Given the description of an element on the screen output the (x, y) to click on. 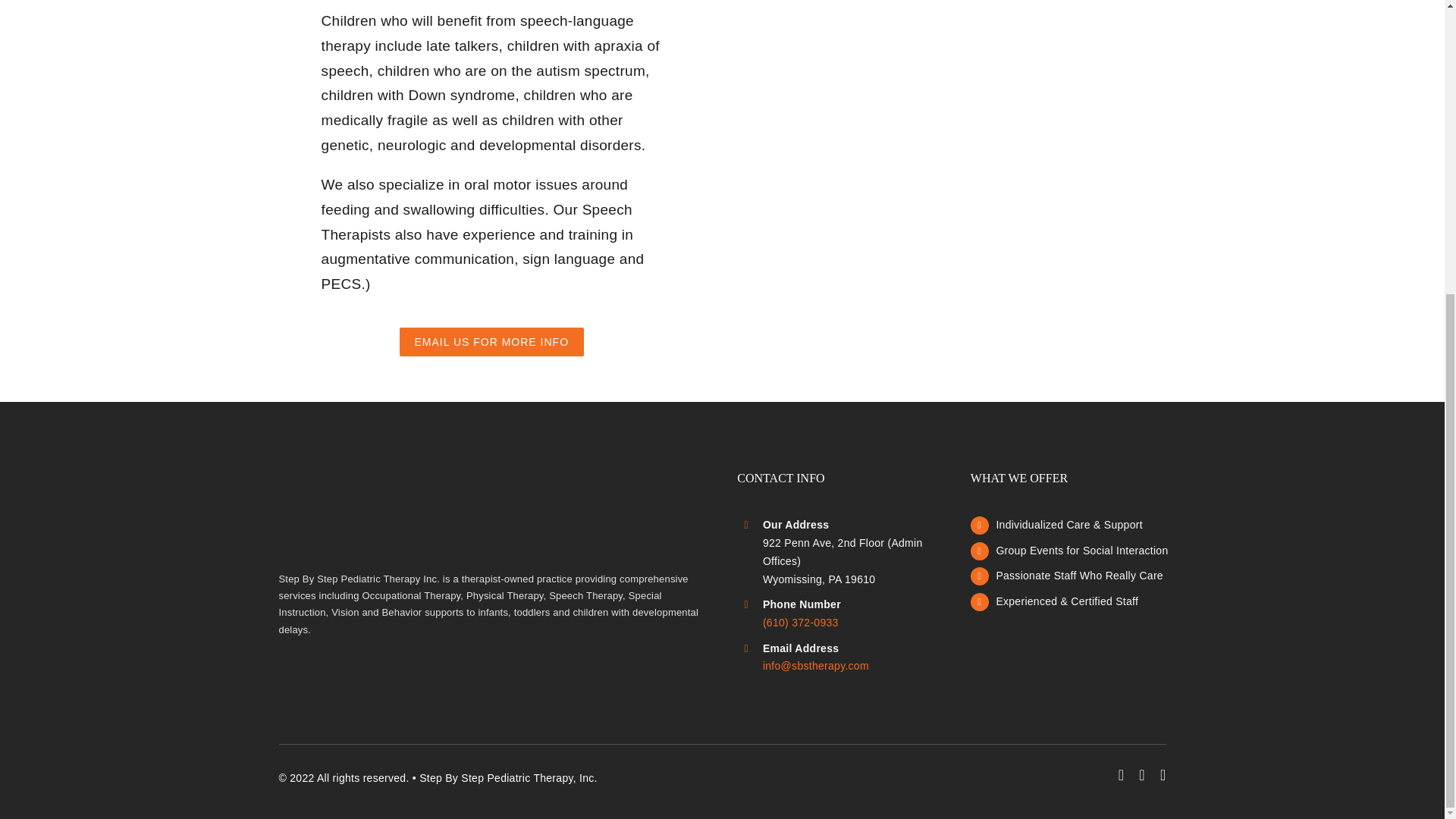
Email Us For More Info (491, 341)
Step by Step Pediatric Therapy (382, 511)
Speech Therapy Services (920, 58)
EMAIL US FOR MORE INFO (491, 341)
